Given the description of an element on the screen output the (x, y) to click on. 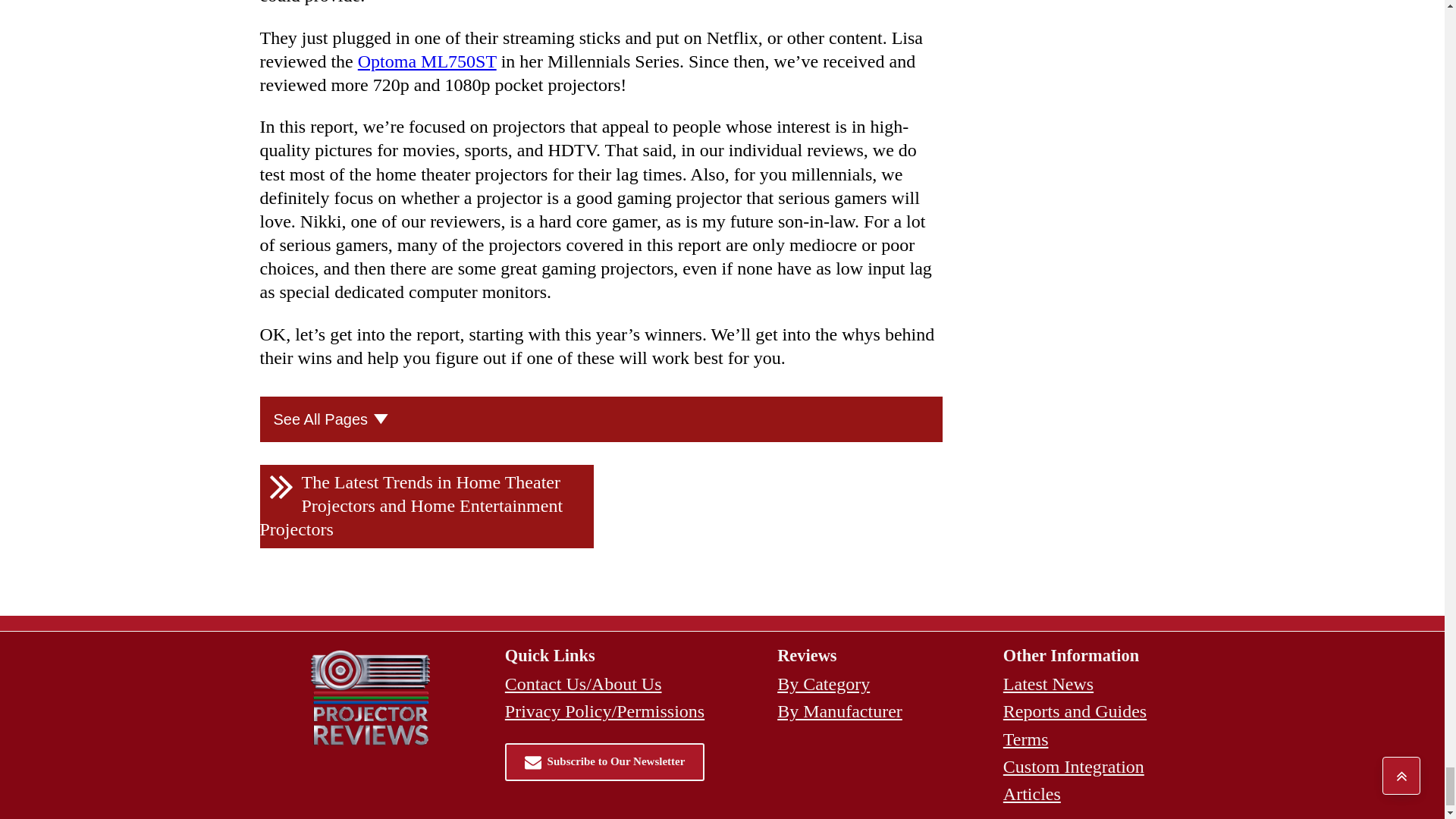
next (425, 506)
